Given the description of an element on the screen output the (x, y) to click on. 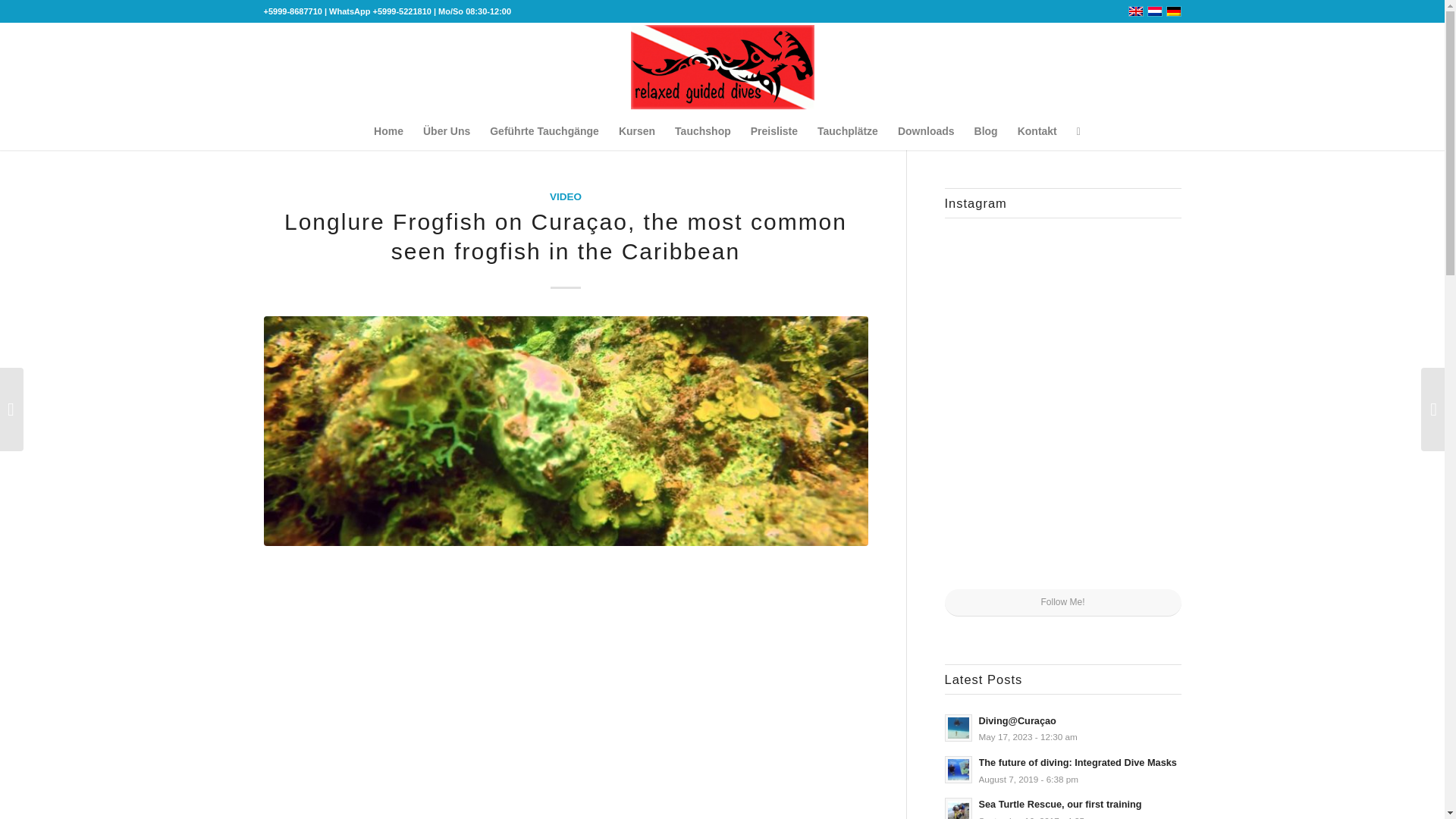
English (1135, 10)
Downloads (925, 130)
Tauchshop (703, 130)
Kontakt (1037, 130)
Blog (985, 130)
Relaxed Guided Dives Color (721, 67)
VIDEO (565, 196)
Nederlands (1154, 10)
Deutsch (1173, 10)
Preisliste (774, 130)
Home (388, 130)
Kursen (636, 130)
